Given the description of an element on the screen output the (x, y) to click on. 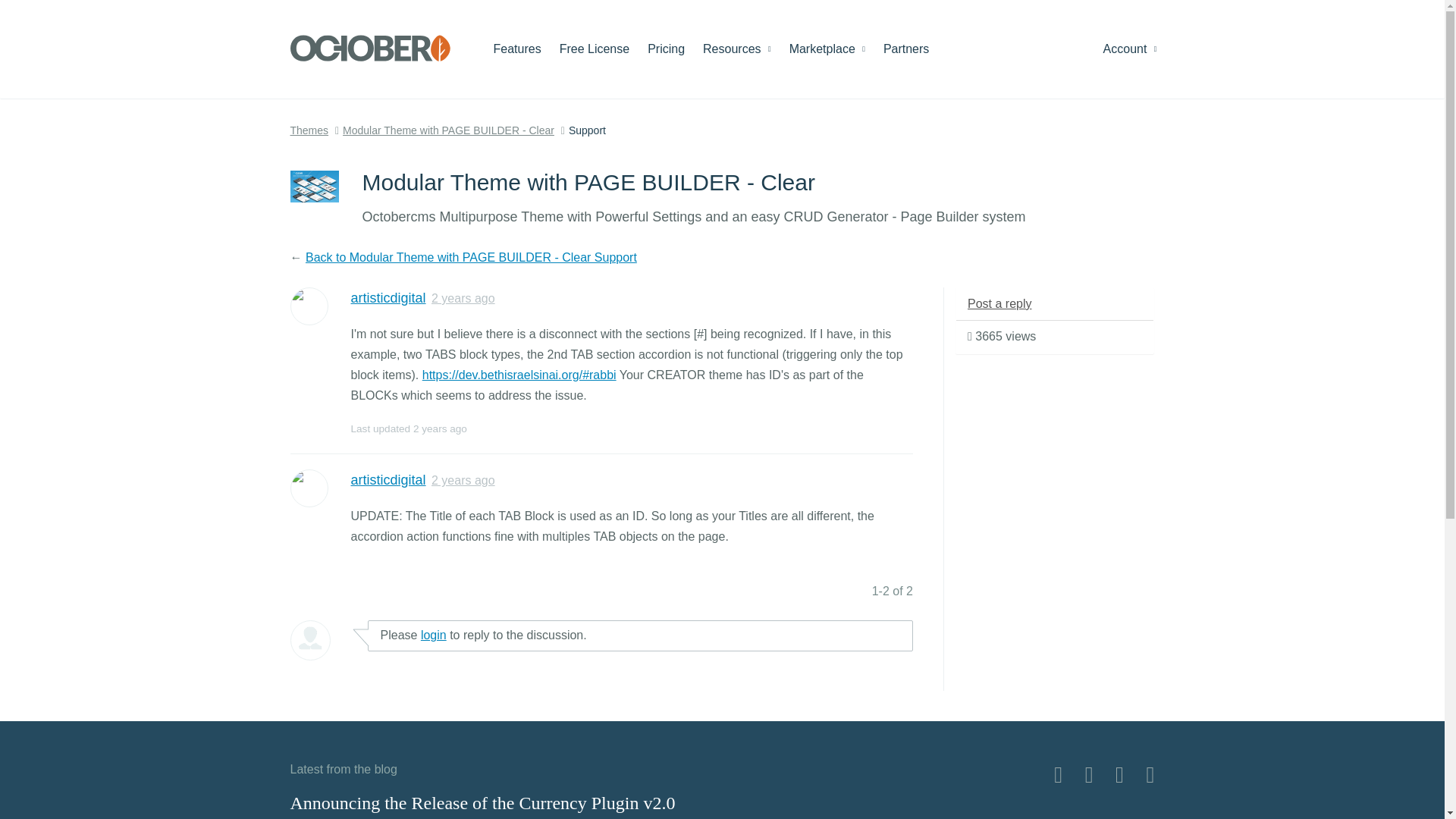
artisticdigital (387, 479)
Thu, Aug 26, 2021 10:31 PM (462, 297)
Thu, Sep 2, 2021 7:49 PM (440, 428)
Announcing the Release of the Currency Plugin v2.0 (482, 803)
2 years ago (462, 297)
Themes (309, 130)
Free License (594, 49)
Back to Modular Theme with PAGE BUILDER - Clear Support (471, 256)
2 years ago (462, 480)
Modular Theme with PAGE BUILDER - Clear (448, 130)
